Given the description of an element on the screen output the (x, y) to click on. 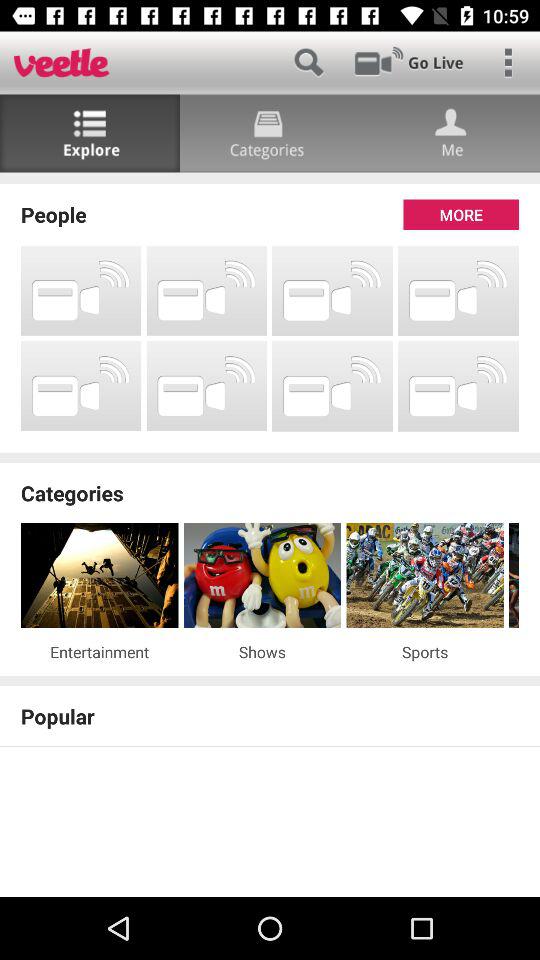
swipe until the sports (424, 651)
